Given the description of an element on the screen output the (x, y) to click on. 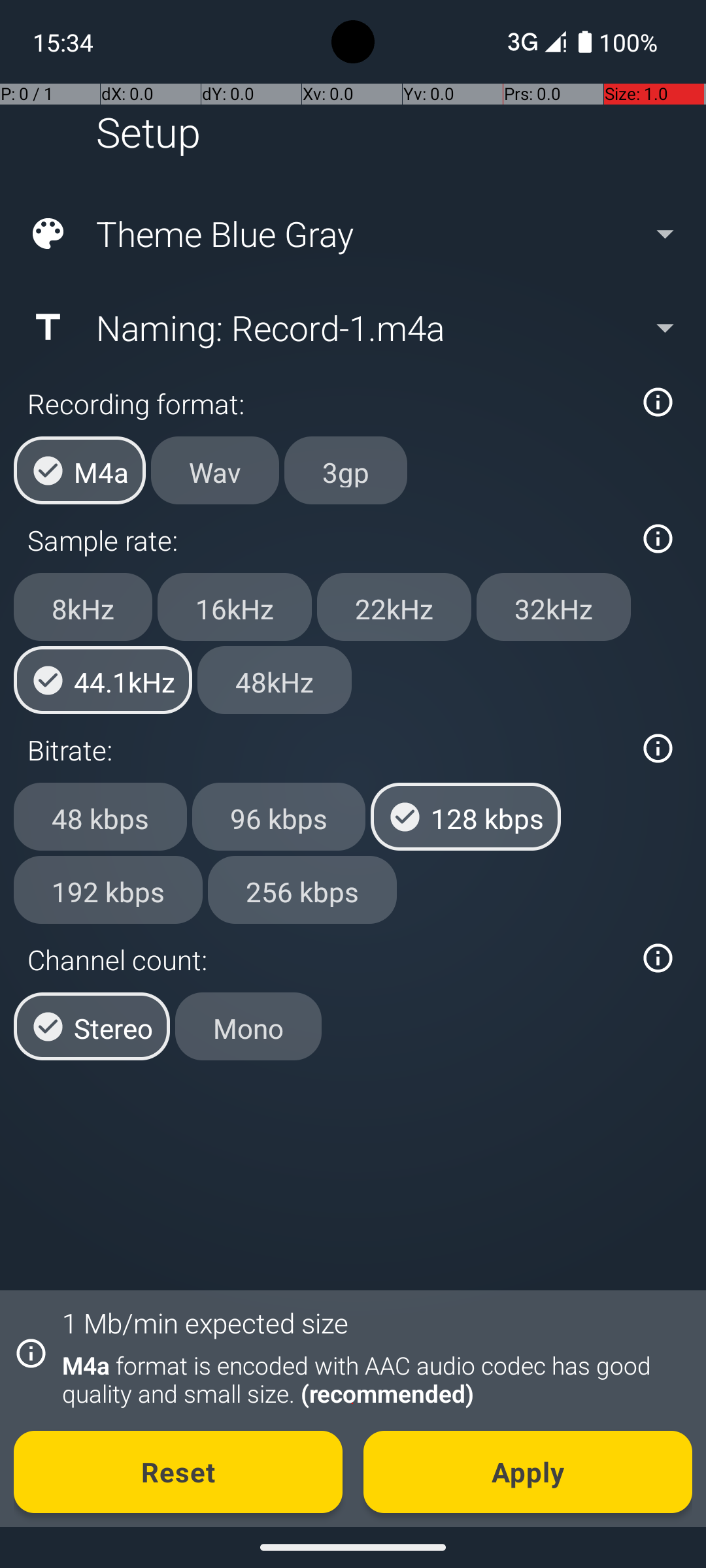
M4a format is encoded with AAC audio codec has good quality and small size. (recommended) Element type: android.widget.TextView (370, 1378)
